Given the description of an element on the screen output the (x, y) to click on. 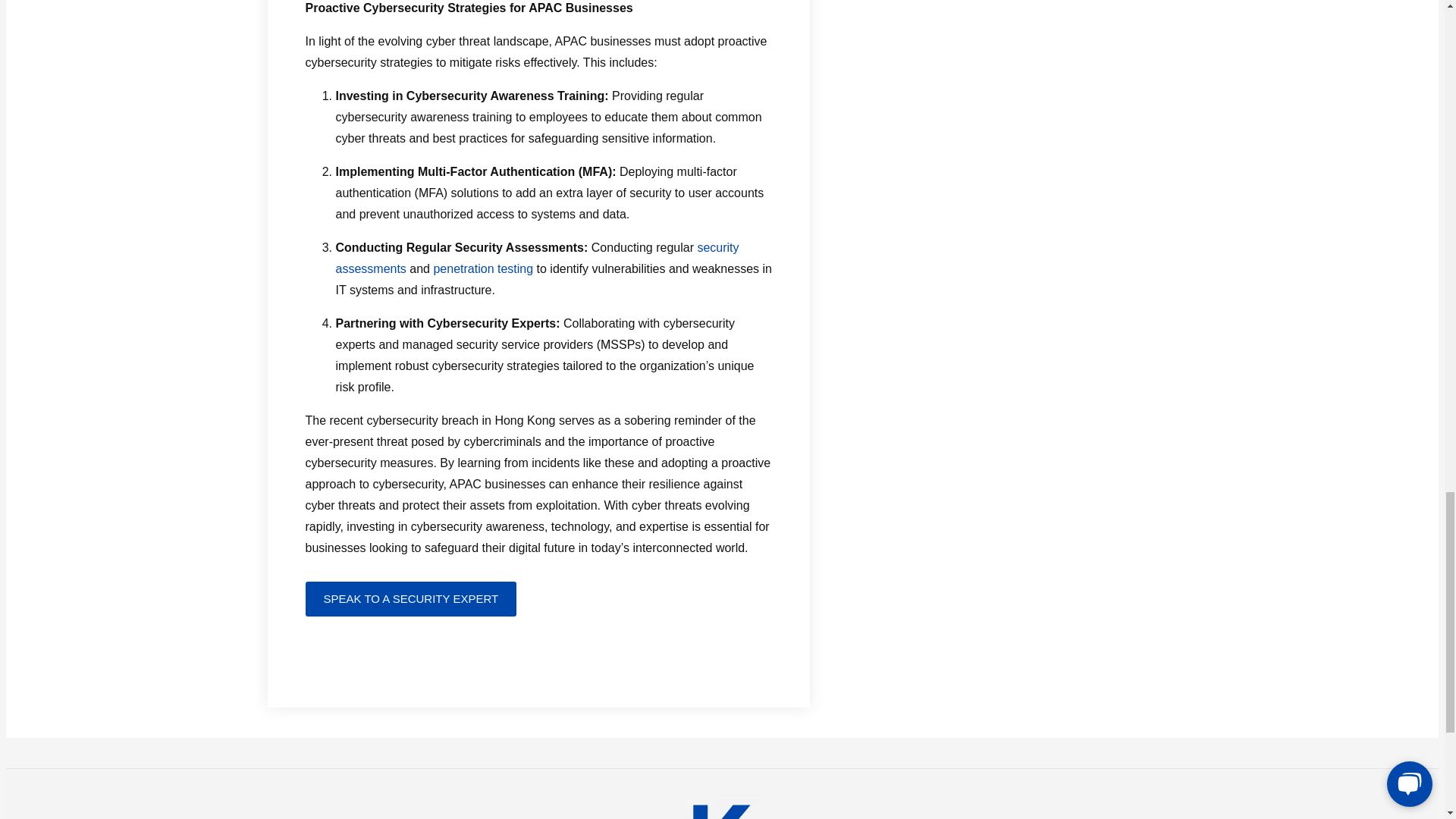
Kobalt-Logo (722, 809)
